Given the description of an element on the screen output the (x, y) to click on. 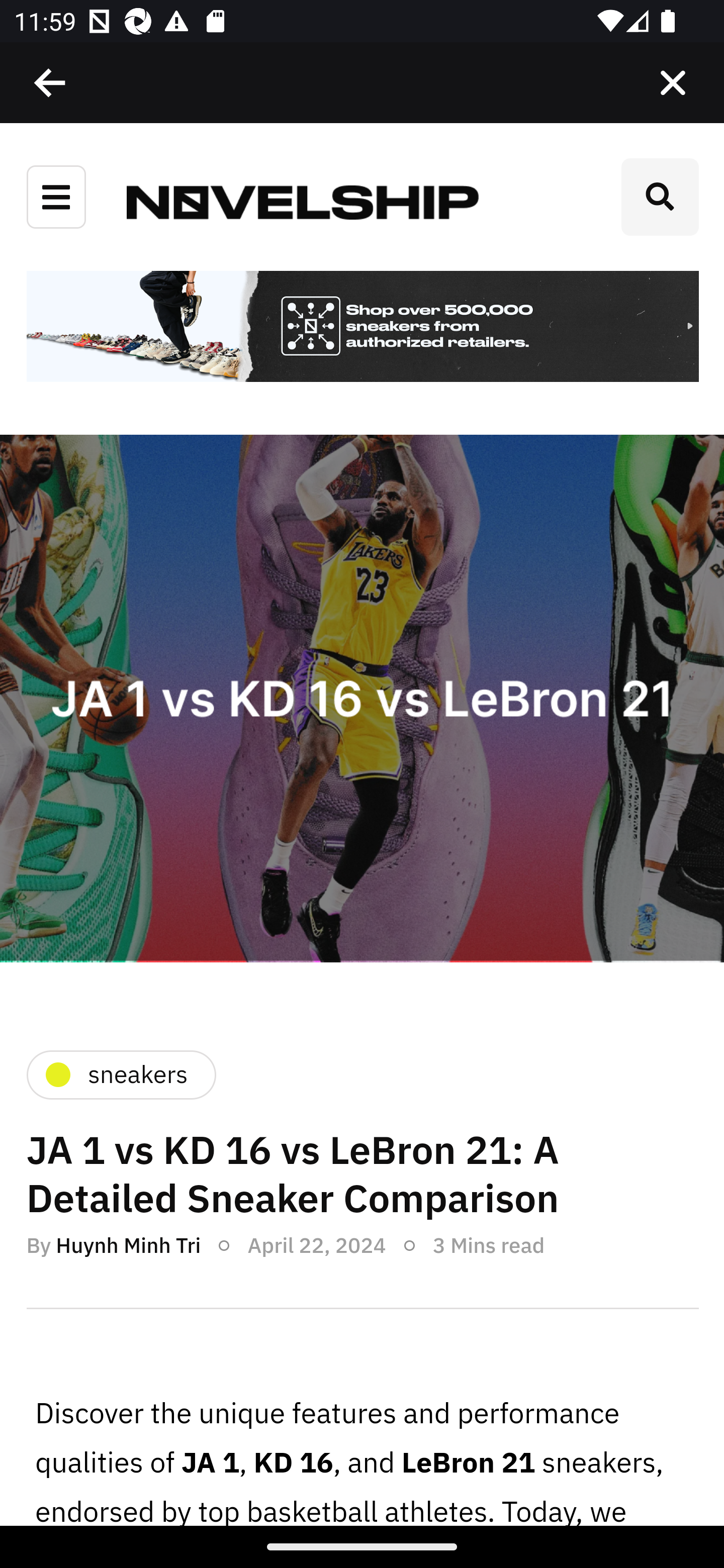
 (50, 83)
 (672, 83)
Search toggle (659, 196)
Novelship News (303, 201)
sneakers?utm_source=blog&utm_medium=banner (362, 327)
sneakers (120, 1074)
Huynh Minh Tri (127, 1244)
